Given the description of an element on the screen output the (x, y) to click on. 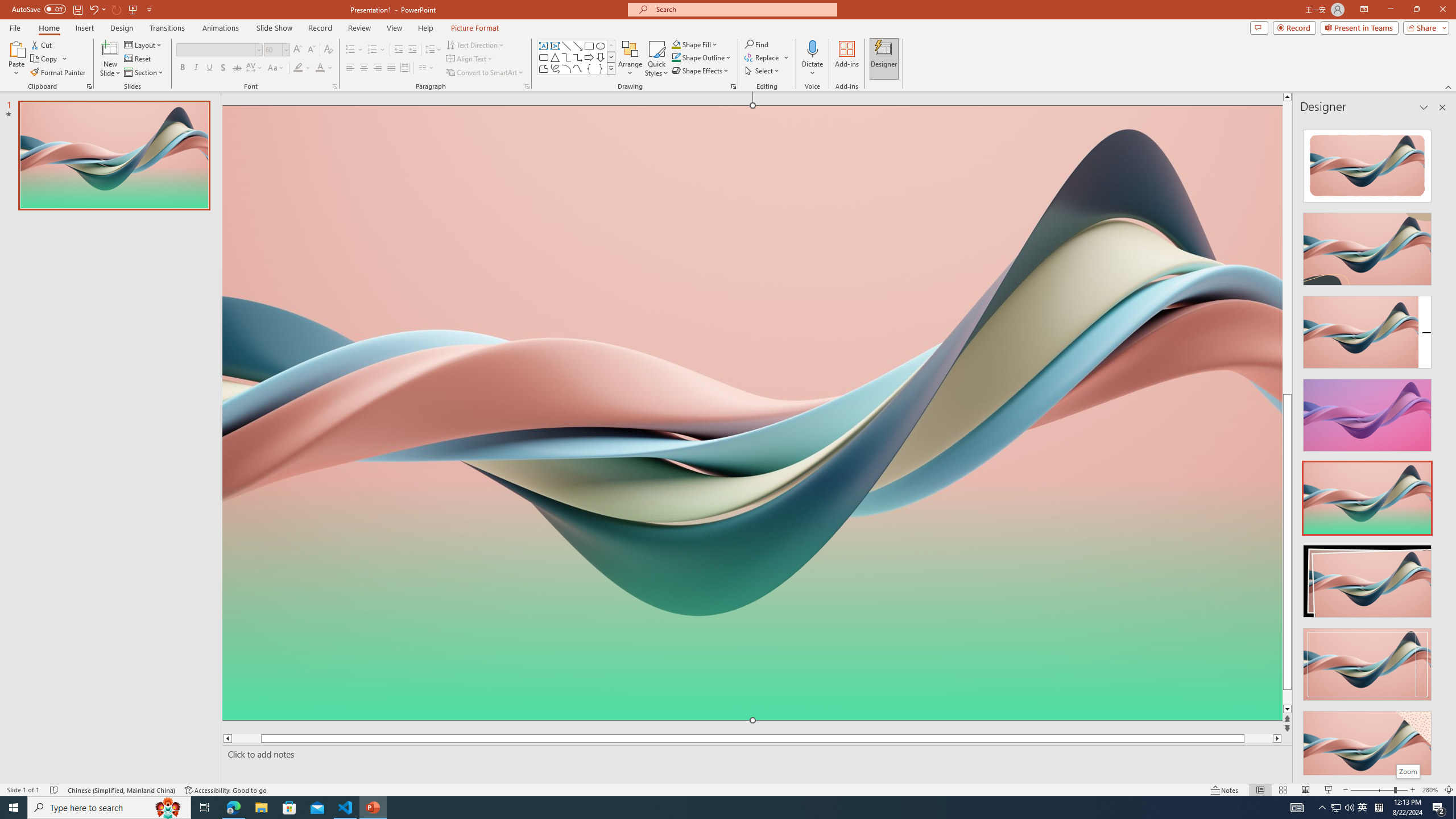
Class: NetUIScrollBar (1441, 447)
